Given the description of an element on the screen output the (x, y) to click on. 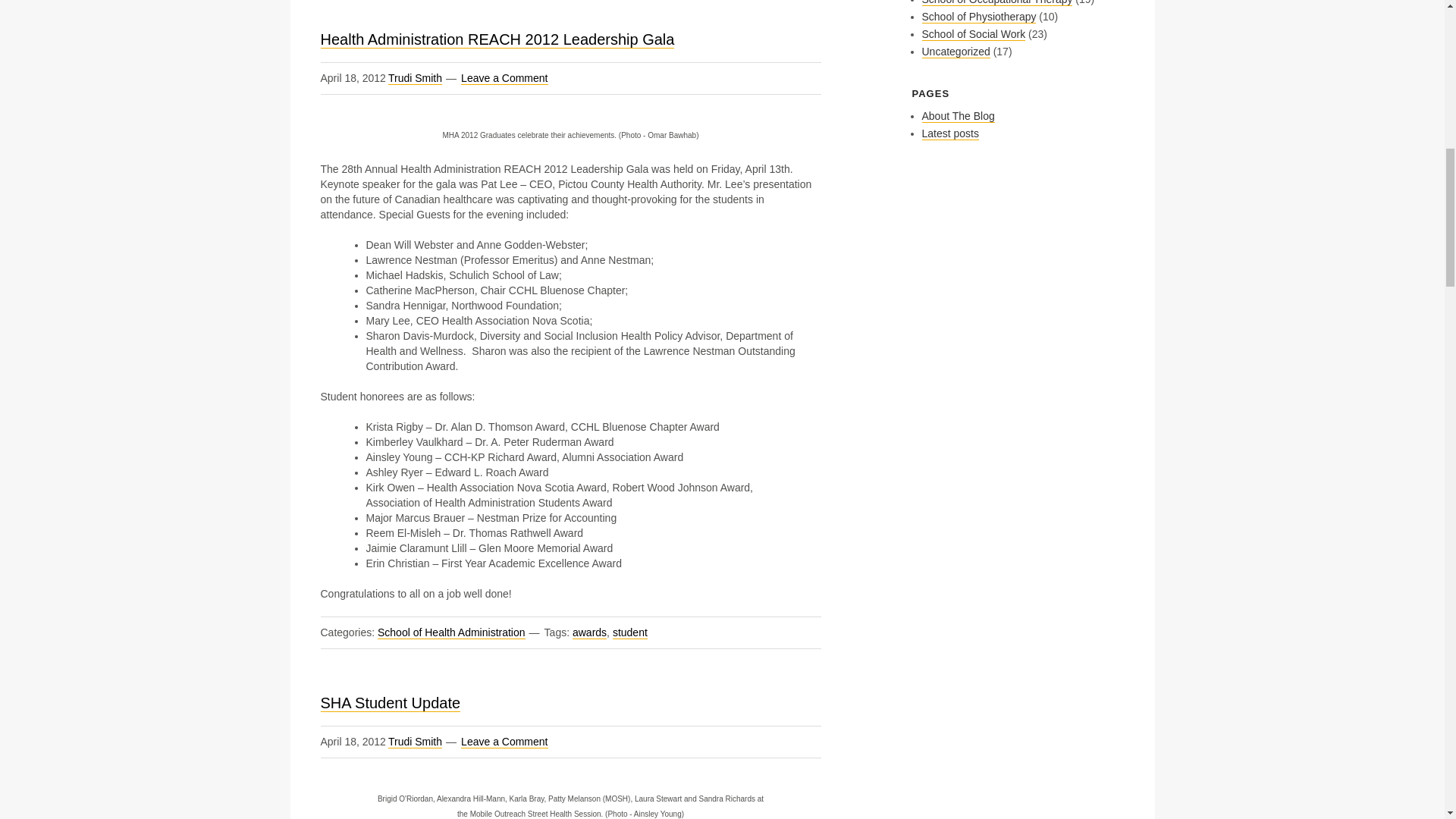
student (629, 632)
SHA Student Update (390, 702)
Leave a Comment (504, 741)
awards (589, 632)
School of Health Administration (451, 632)
Health Administration REACH 2012 Leadership Gala (497, 39)
Trudi Smith (415, 741)
Trudi Smith (415, 78)
Leave a Comment (504, 78)
